Given the description of an element on the screen output the (x, y) to click on. 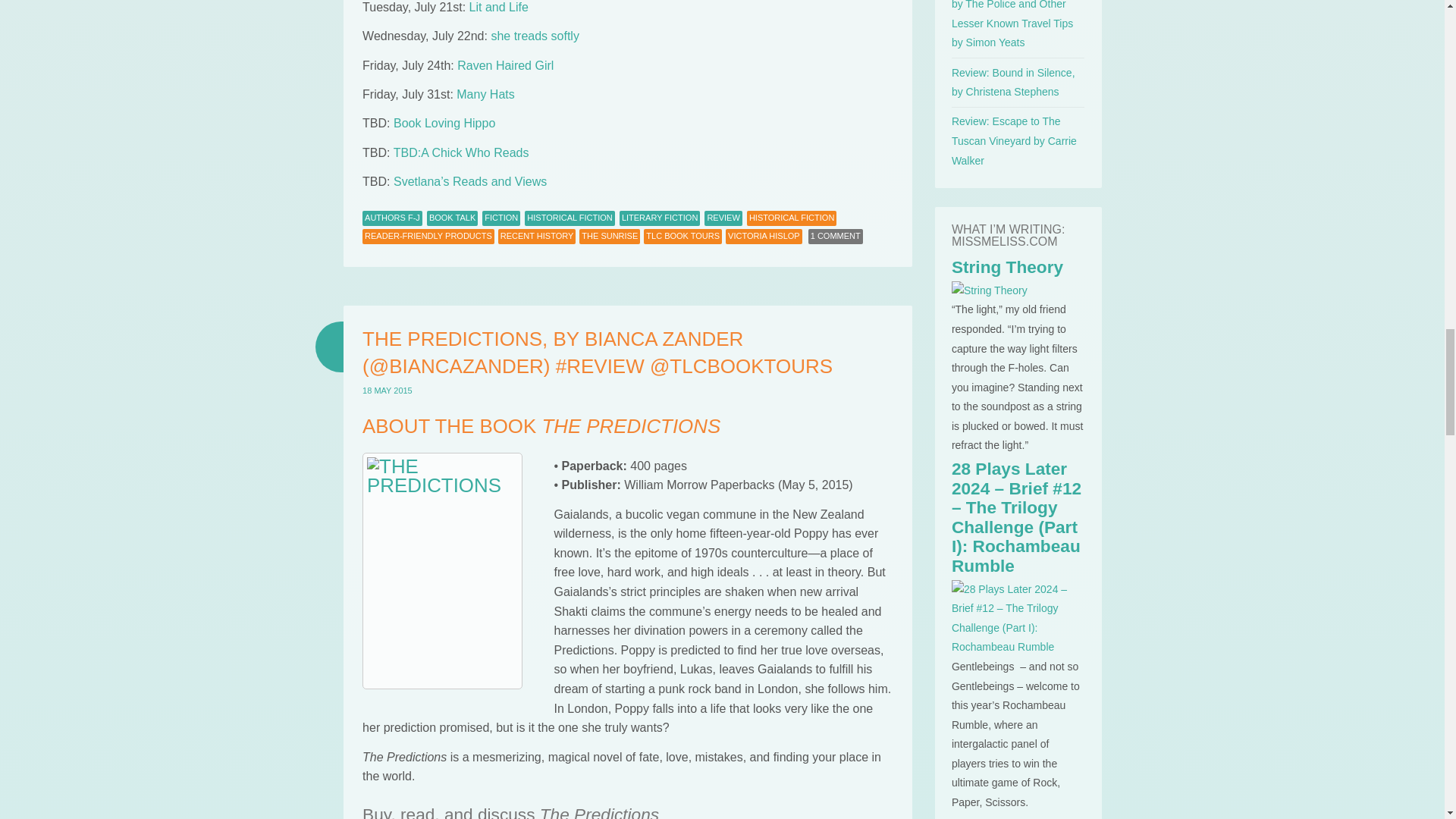
she treads softly (534, 35)
Many Hats (485, 93)
10:00 (387, 389)
Lit and Life (498, 6)
Raven Haired Girl (505, 65)
